Given the description of an element on the screen output the (x, y) to click on. 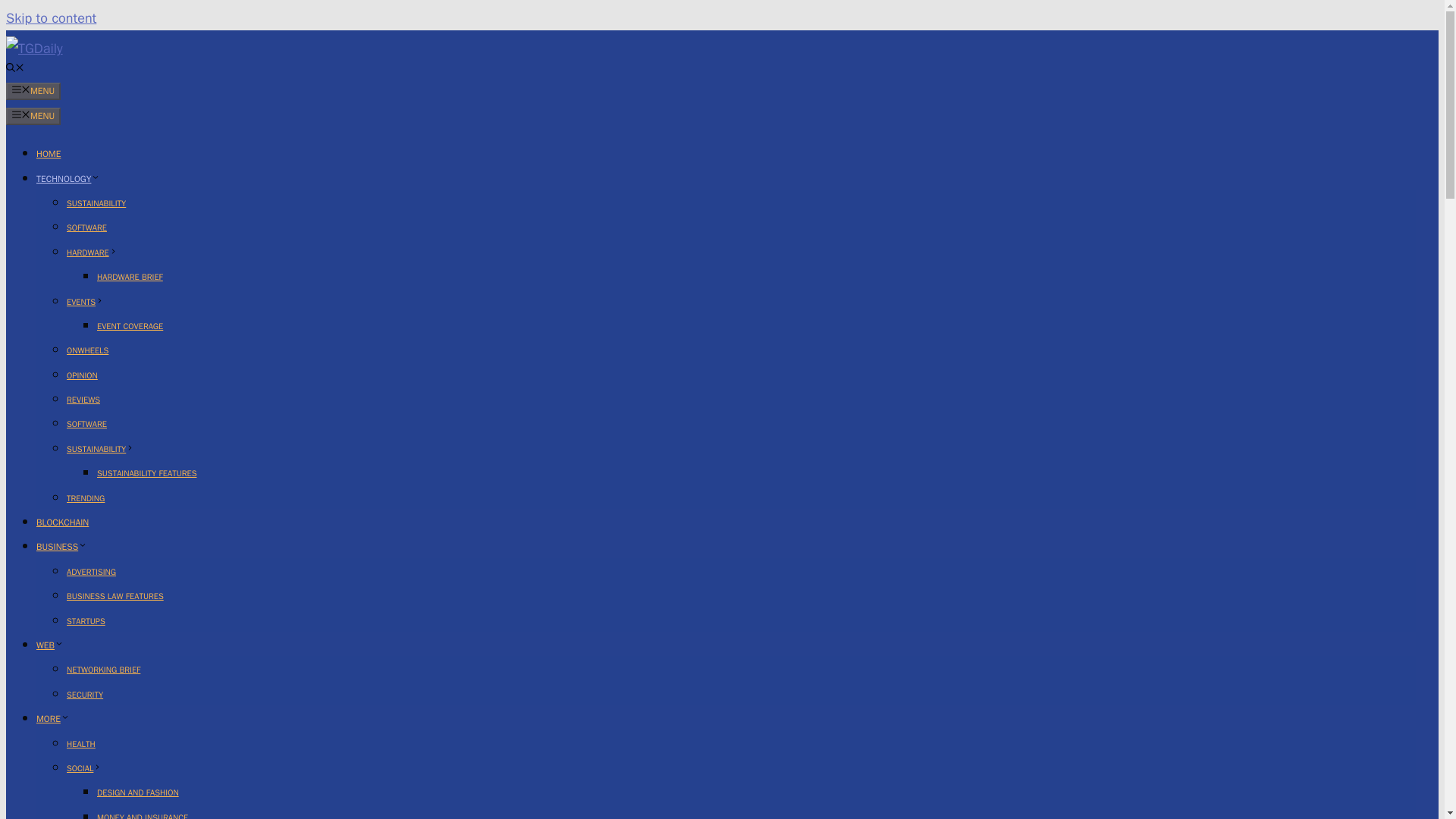
BLOCKCHAIN (62, 522)
BUSINESS (61, 546)
ONWHEELS (86, 349)
Skip to content (50, 17)
SUSTAINABILITY (95, 203)
SOCIAL (83, 767)
SOFTWARE (86, 226)
HOME (48, 153)
STARTUPS (85, 620)
SUSTAINABILITY FEATURES (146, 472)
SOFTWARE (86, 423)
BUSINESS LAW FEATURES (114, 595)
HARDWARE (91, 252)
HEALTH (81, 743)
MENU (33, 116)
